Given the description of an element on the screen output the (x, y) to click on. 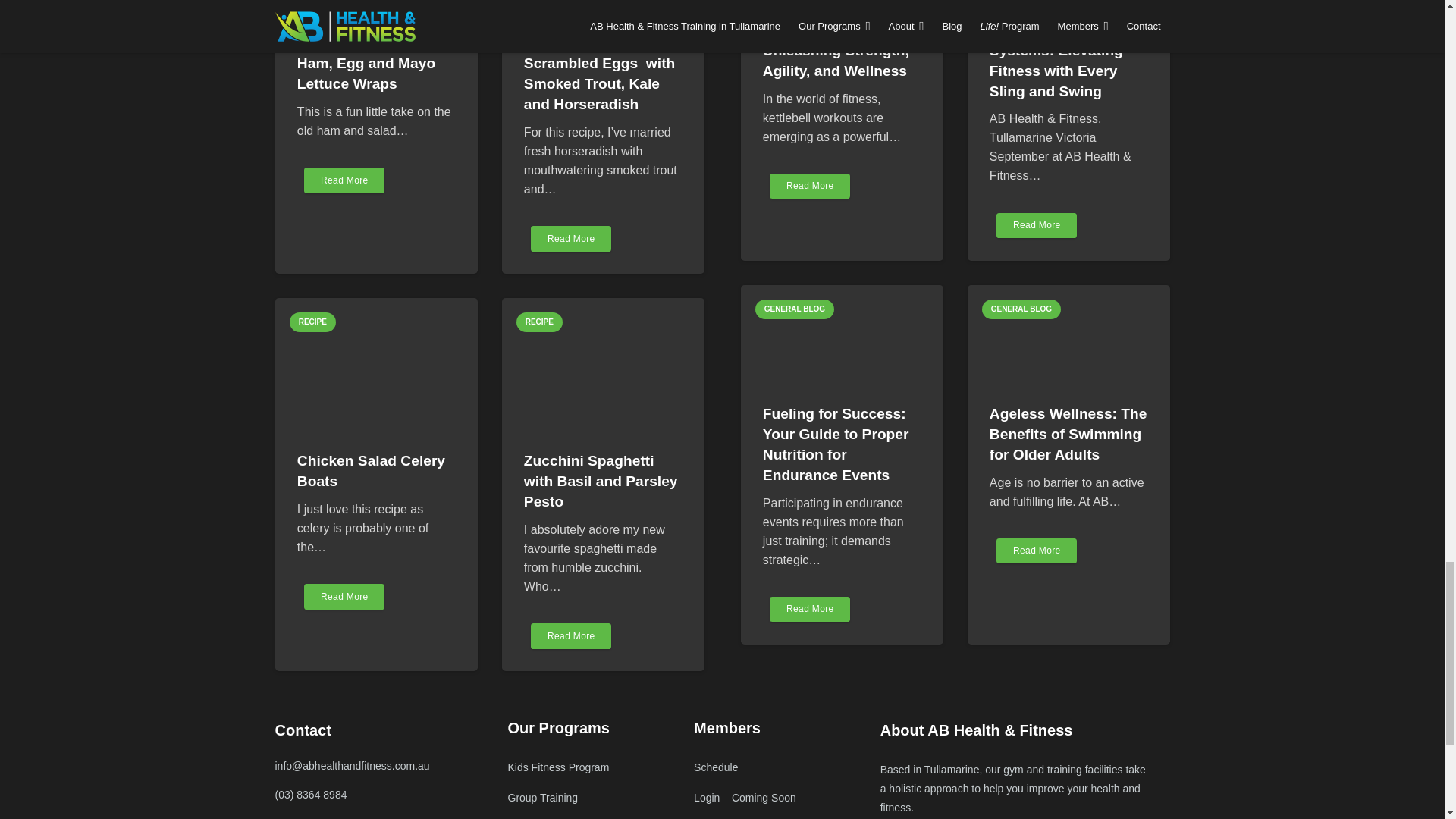
Ham, Egg and Mayo Lettuce Wraps (366, 73)
Scrambled Eggs with Smoked Trout, Kale and Horseradish (599, 83)
Read More (344, 180)
